Given the description of an element on the screen output the (x, y) to click on. 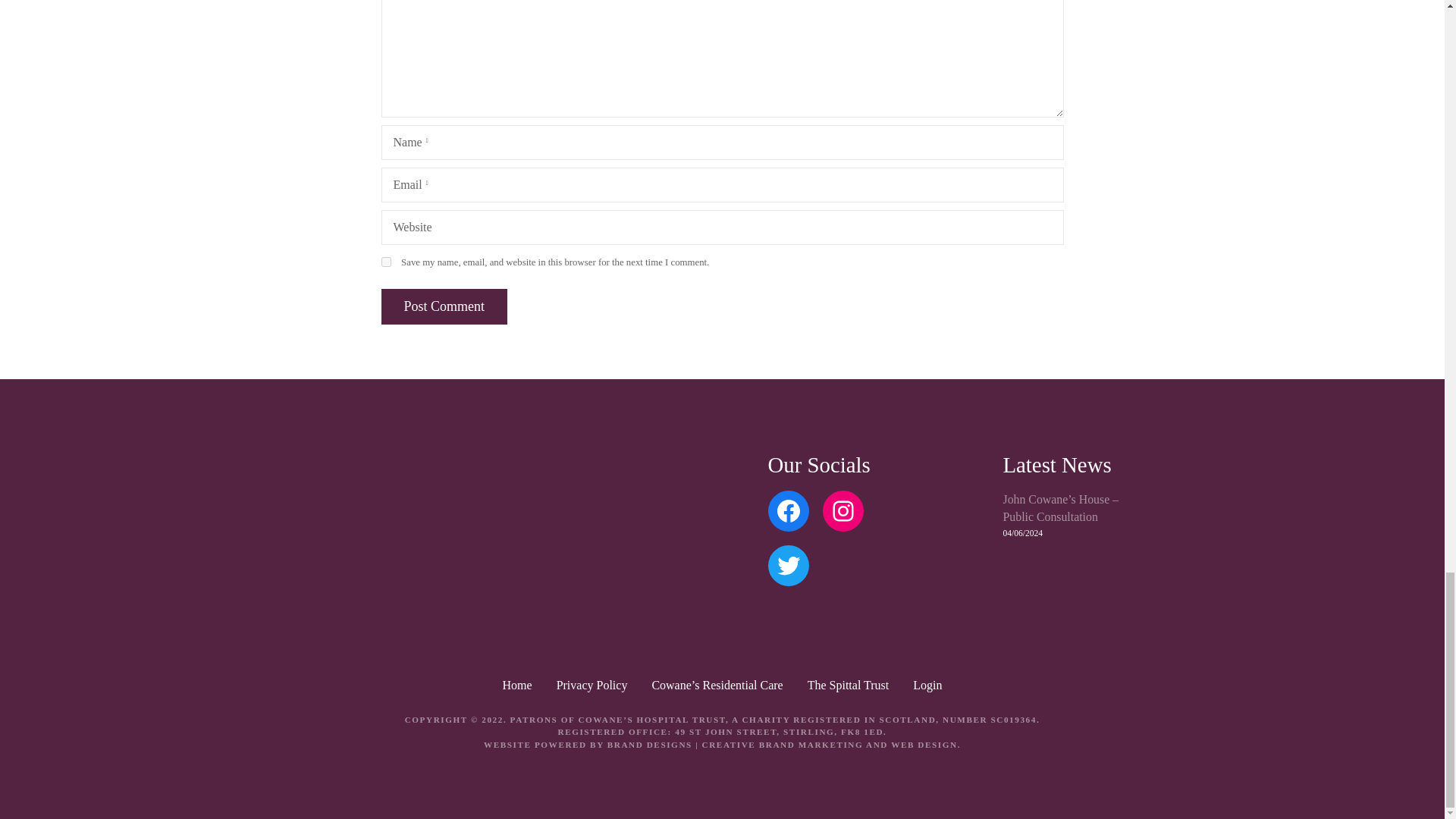
yes (385, 261)
Post Comment (443, 306)
